Given the description of an element on the screen output the (x, y) to click on. 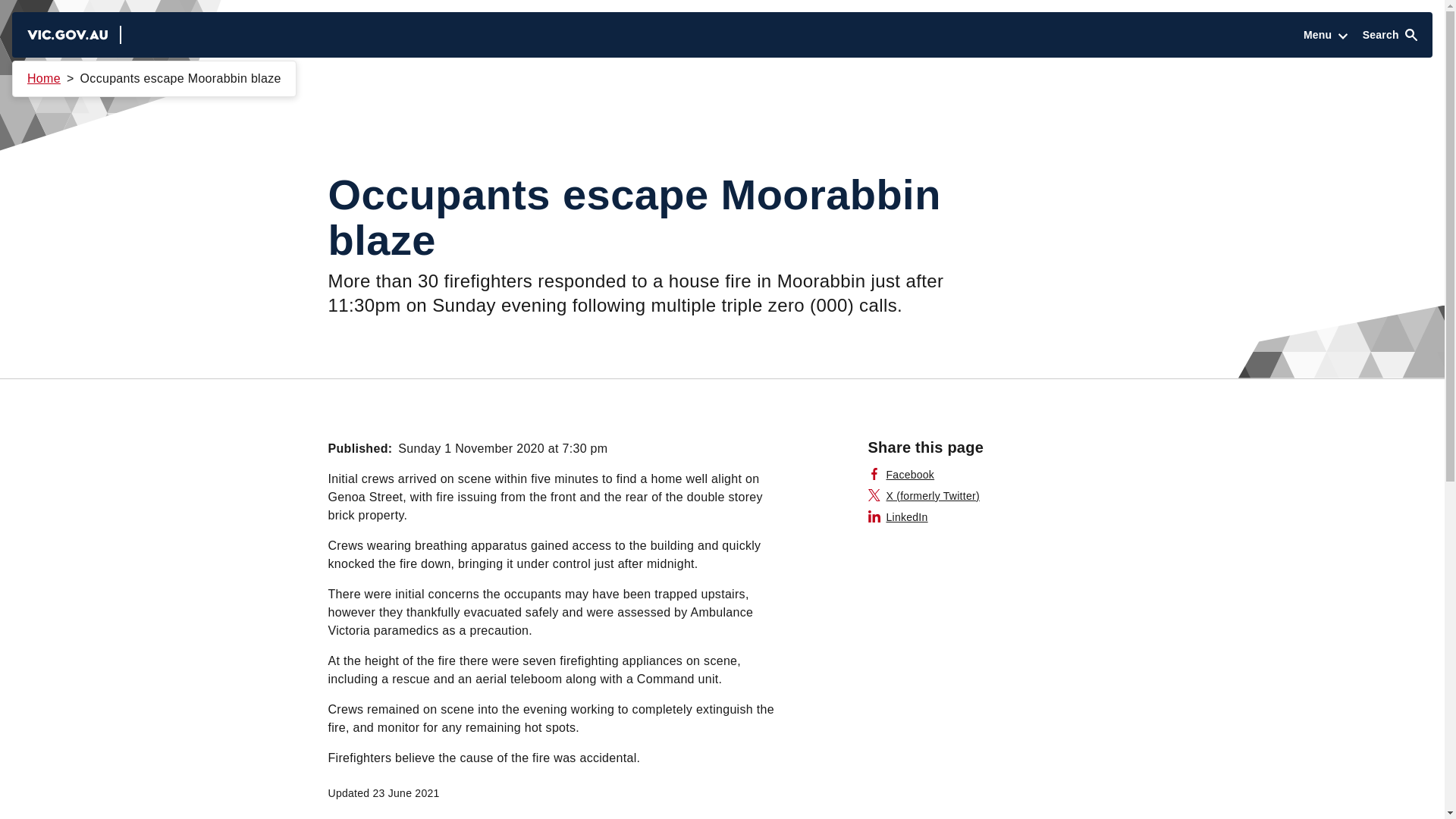
Home (44, 78)
LinkedIn (897, 516)
Facebook (900, 474)
